Given the description of an element on the screen output the (x, y) to click on. 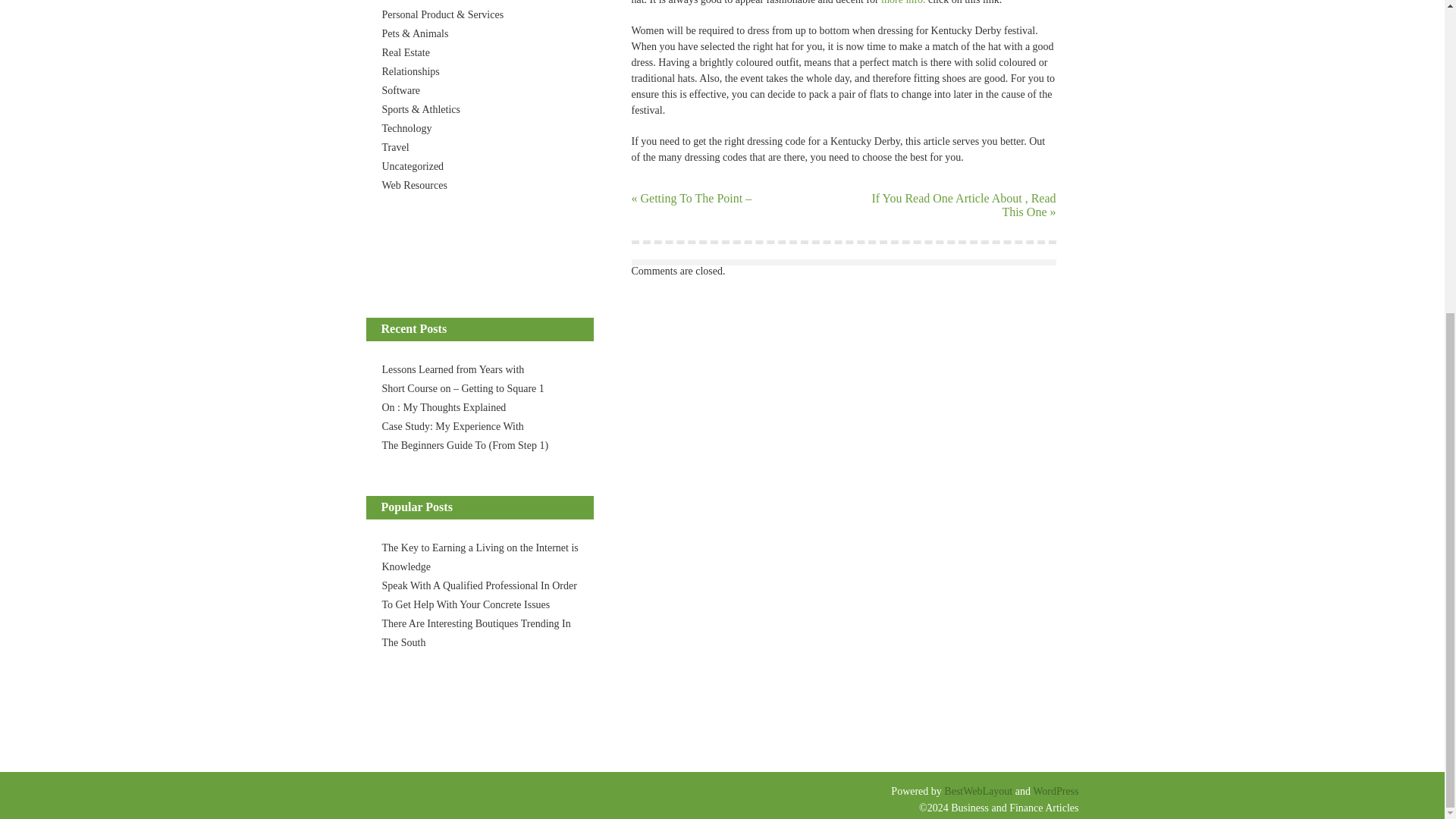
On : My Thoughts Explained (443, 407)
Web Resources (413, 184)
Miscellaneous (412, 0)
Real Estate (405, 52)
Uncategorized (412, 165)
Technology (406, 128)
Case Study: My Experience With (452, 426)
Travel (395, 147)
